Given the description of an element on the screen output the (x, y) to click on. 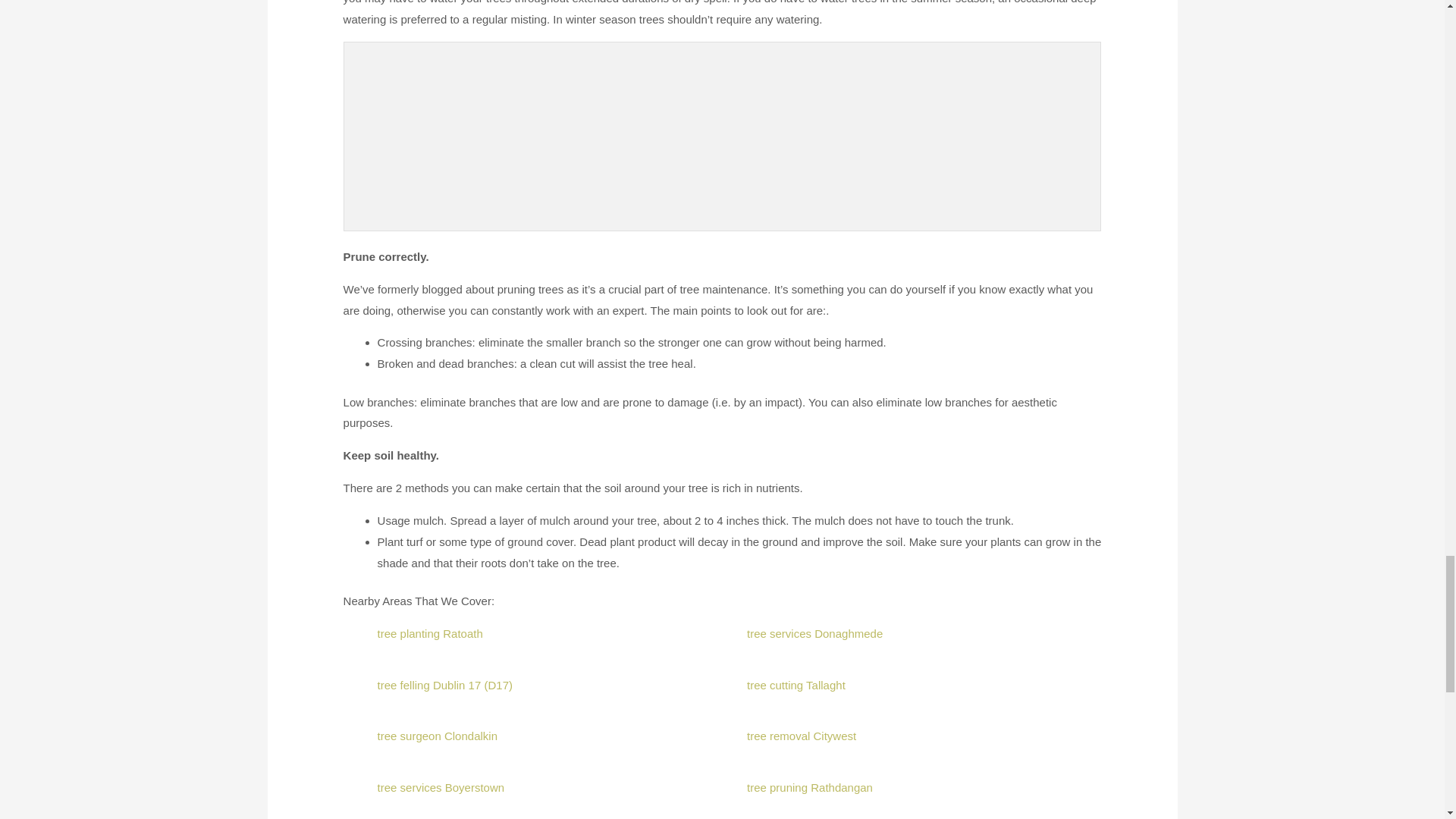
tree surgeon Clondalkin (437, 735)
tree removal Citywest (801, 735)
tree services Boyerstown (441, 787)
tree services Donaghmede (814, 633)
tree planting Ratoath (430, 633)
tree pruning Rathdangan (809, 787)
tree cutting Tallaght (795, 684)
